Given the description of an element on the screen output the (x, y) to click on. 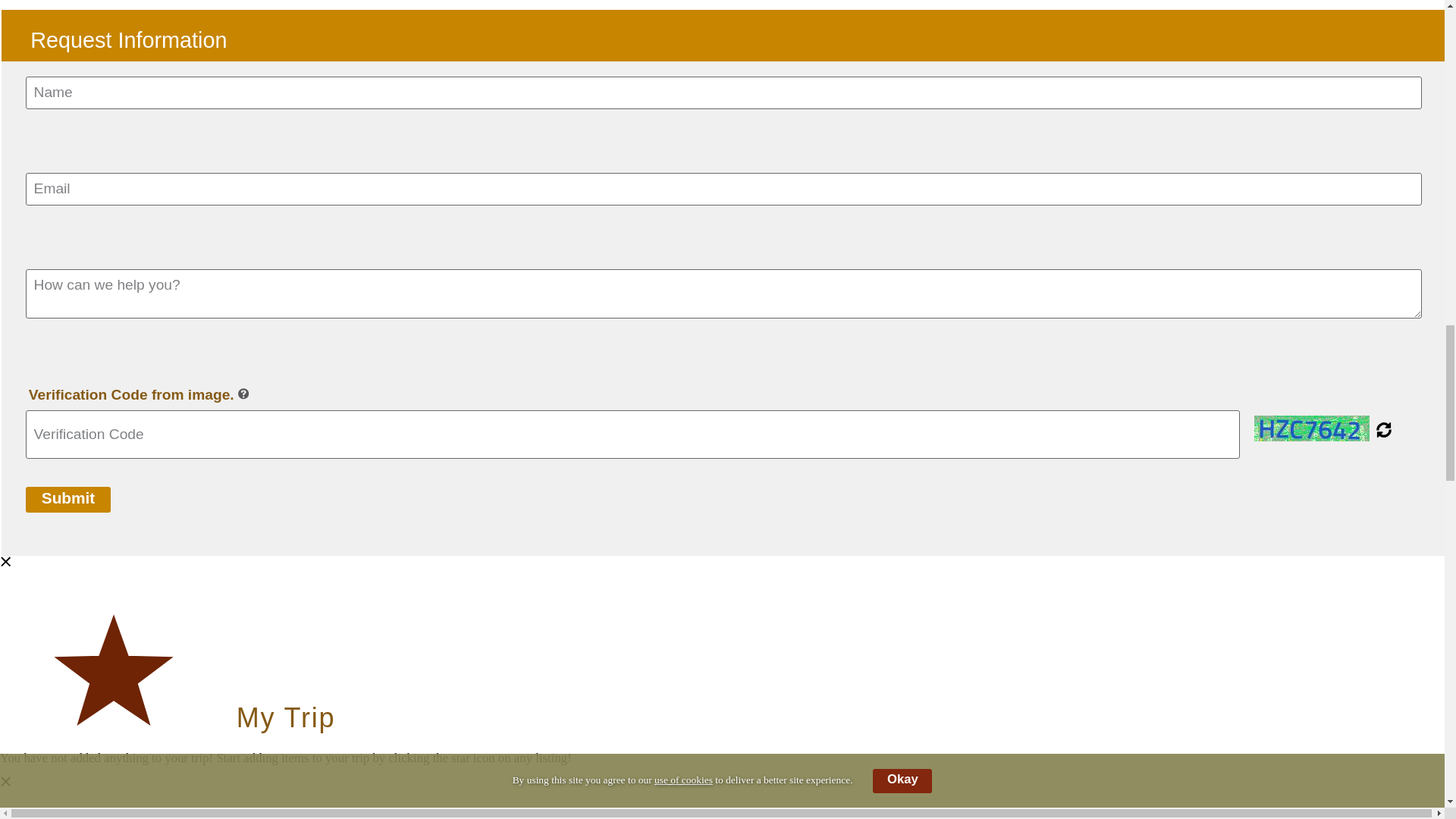
Submit (68, 499)
